Given the description of an element on the screen output the (x, y) to click on. 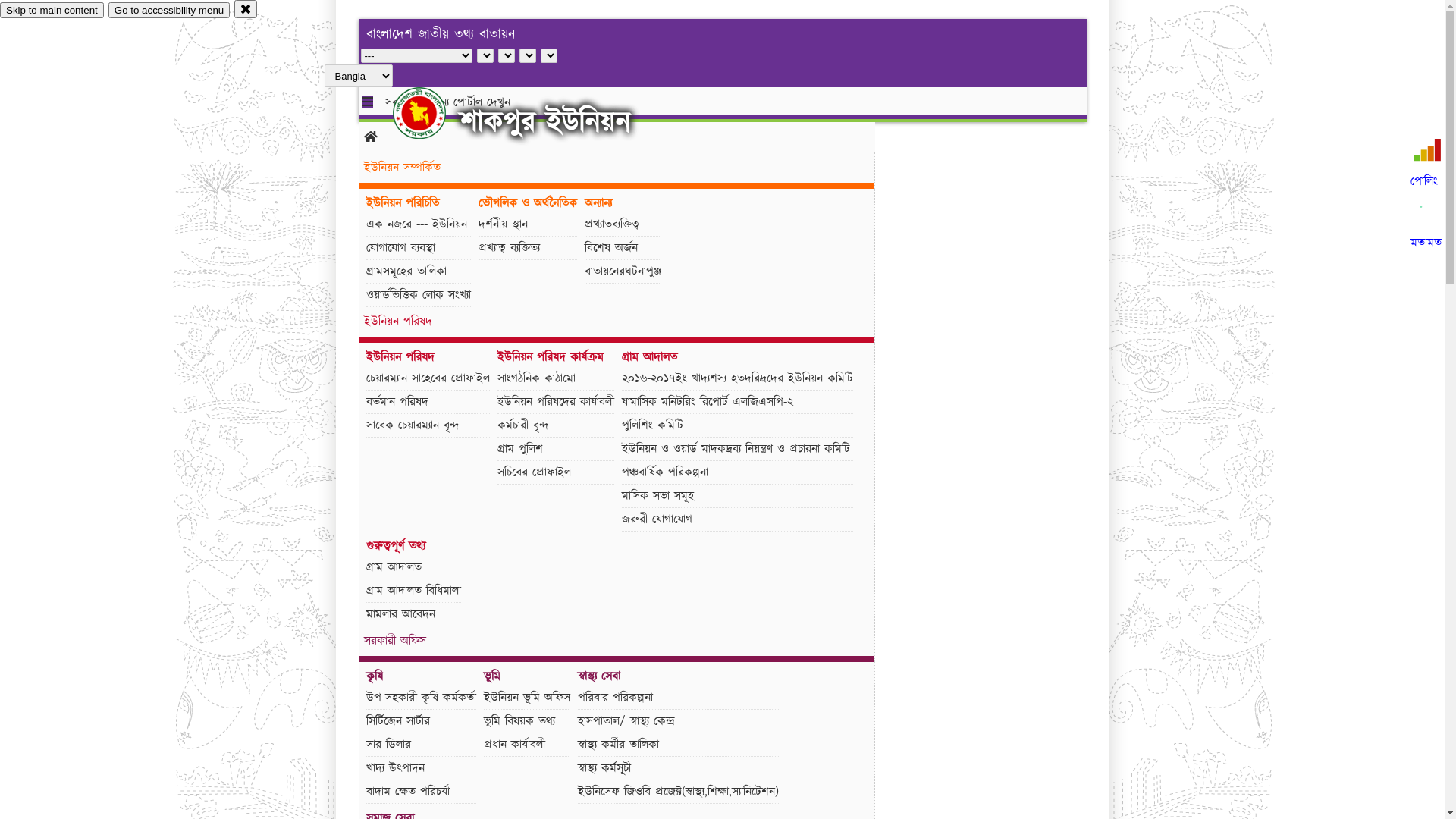
close Element type: hover (245, 9)
Skip to main content Element type: text (51, 10)
Go to accessibility menu Element type: text (168, 10)

                
             Element type: hover (431, 112)
